Given the description of an element on the screen output the (x, y) to click on. 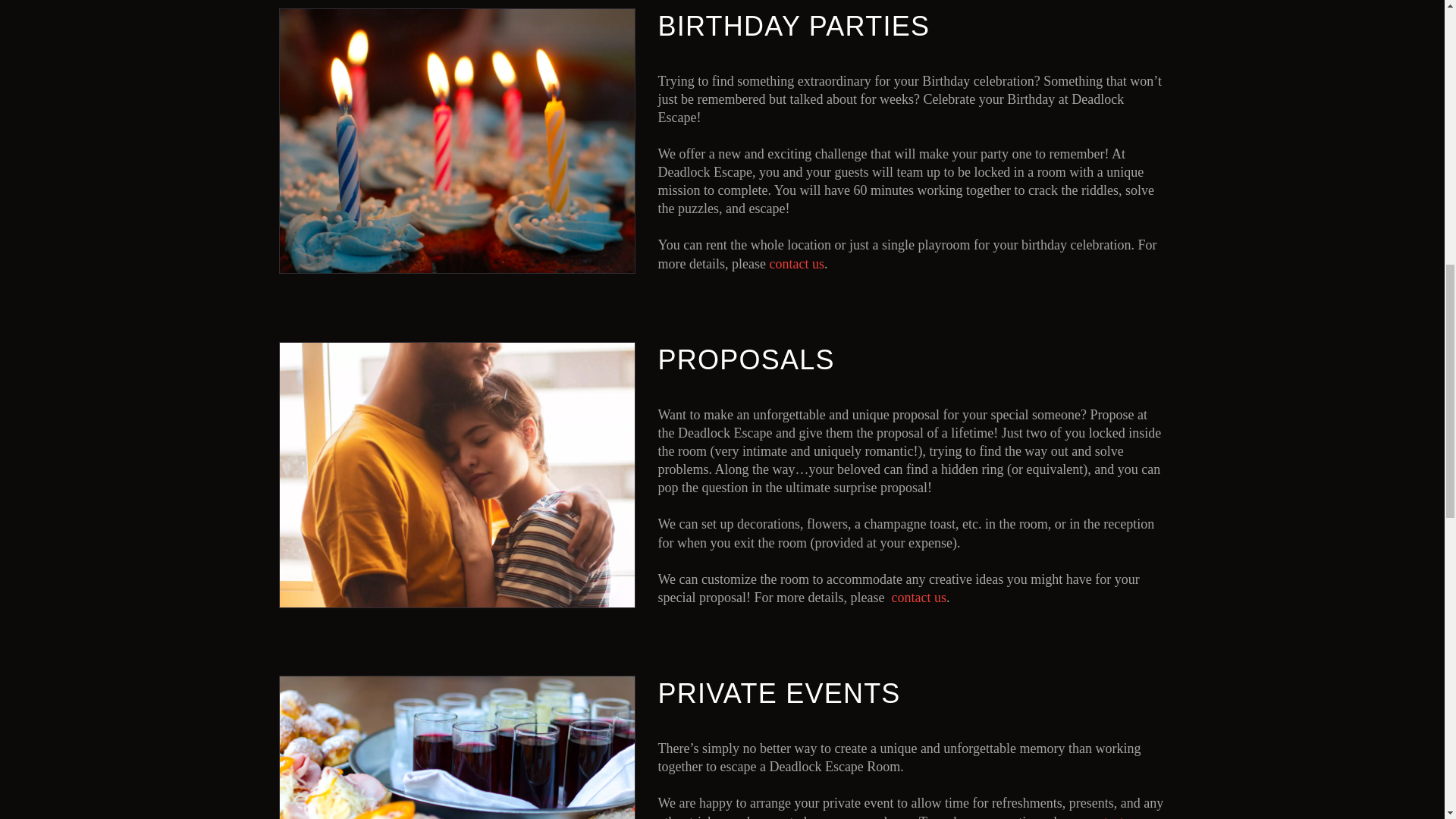
contact us (917, 597)
contact us (796, 263)
contact us (1111, 816)
